Given the description of an element on the screen output the (x, y) to click on. 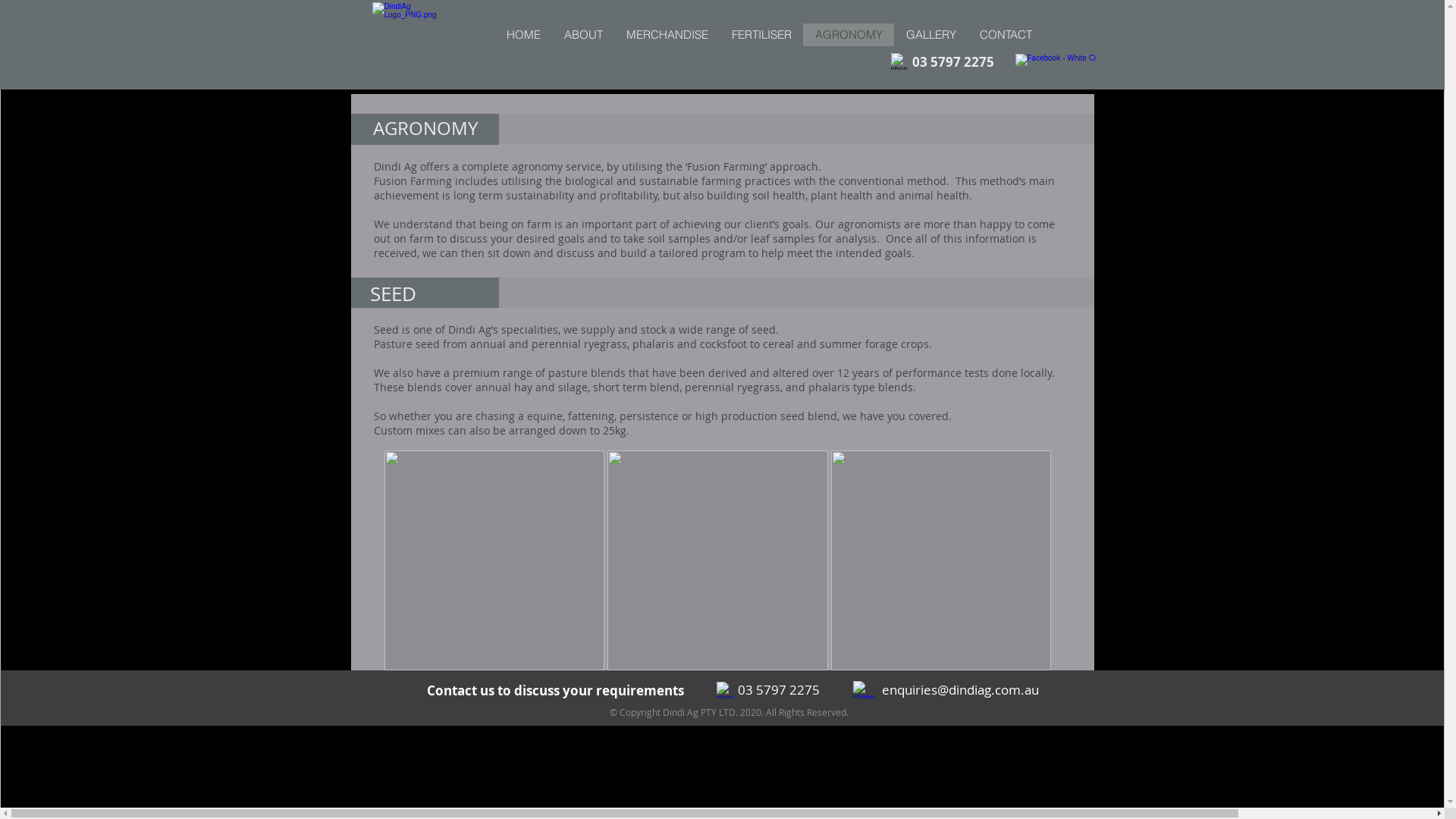
MERCHANDISE Element type: text (666, 34)
ABOUT Element type: text (583, 34)
enquiries@dindiag.com.au Element type: text (959, 689)
HOME Element type: text (523, 34)
FERTILISER Element type: text (760, 34)
CONTACT Element type: text (1005, 34)
GALLERY Element type: text (929, 34)
AGRONOMY Element type: text (847, 34)
